Given the description of an element on the screen output the (x, y) to click on. 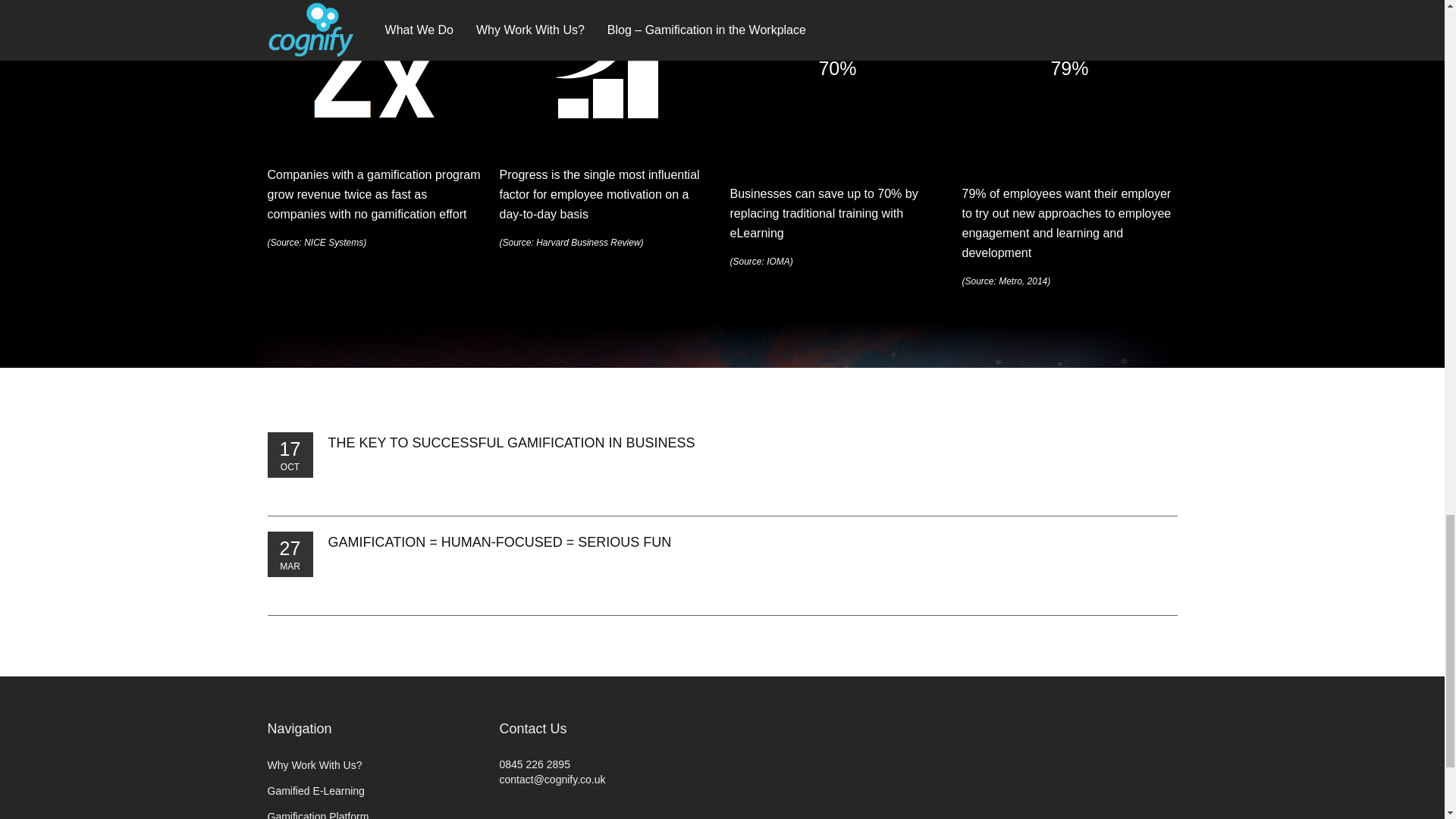
THE KEY TO SUCCESSFUL GAMIFICATION IN BUSINESS (510, 442)
Gamified E-Learning (315, 790)
Why Work With Us? (313, 765)
Gamification Platform (317, 814)
